Given the description of an element on the screen output the (x, y) to click on. 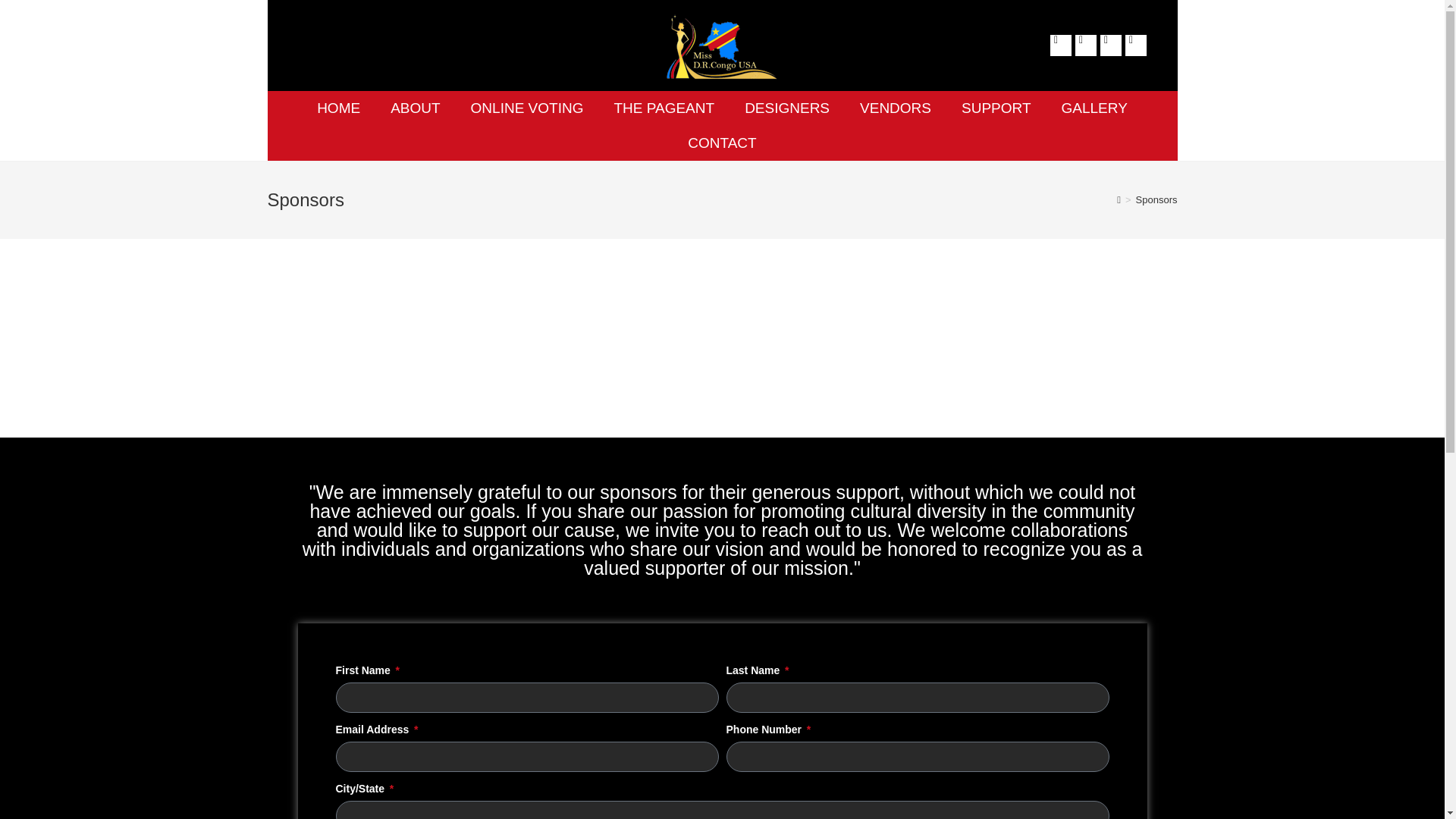
HOME (338, 108)
DESIGNERS (786, 108)
VENDORS (895, 108)
SUPPORT (996, 108)
THE PAGEANT (663, 108)
ABOUT (414, 108)
ONLINE VOTING (526, 108)
